Given the description of an element on the screen output the (x, y) to click on. 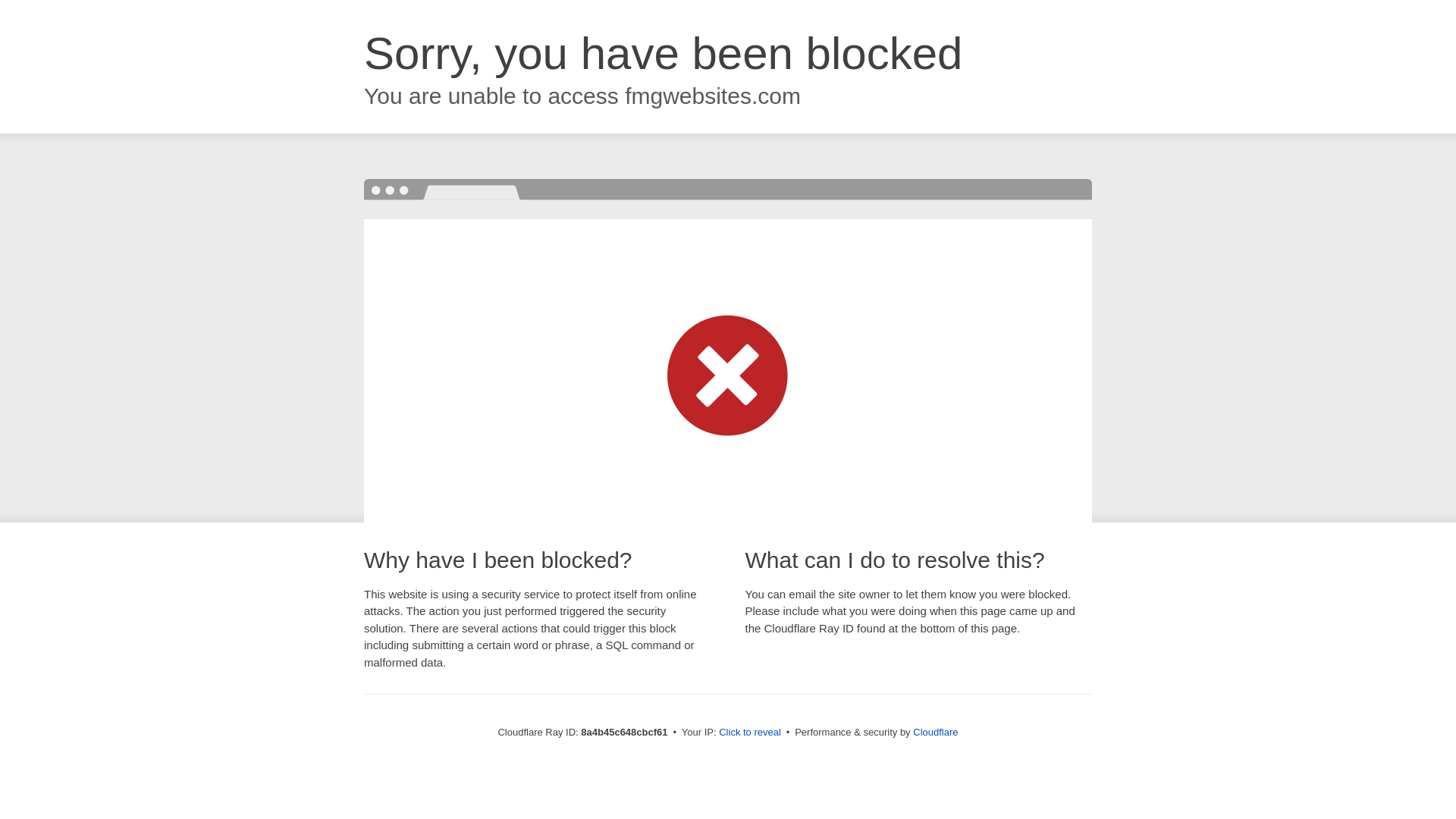
Cloudflare (935, 731)
Click to reveal (749, 732)
